Given the description of an element on the screen output the (x, y) to click on. 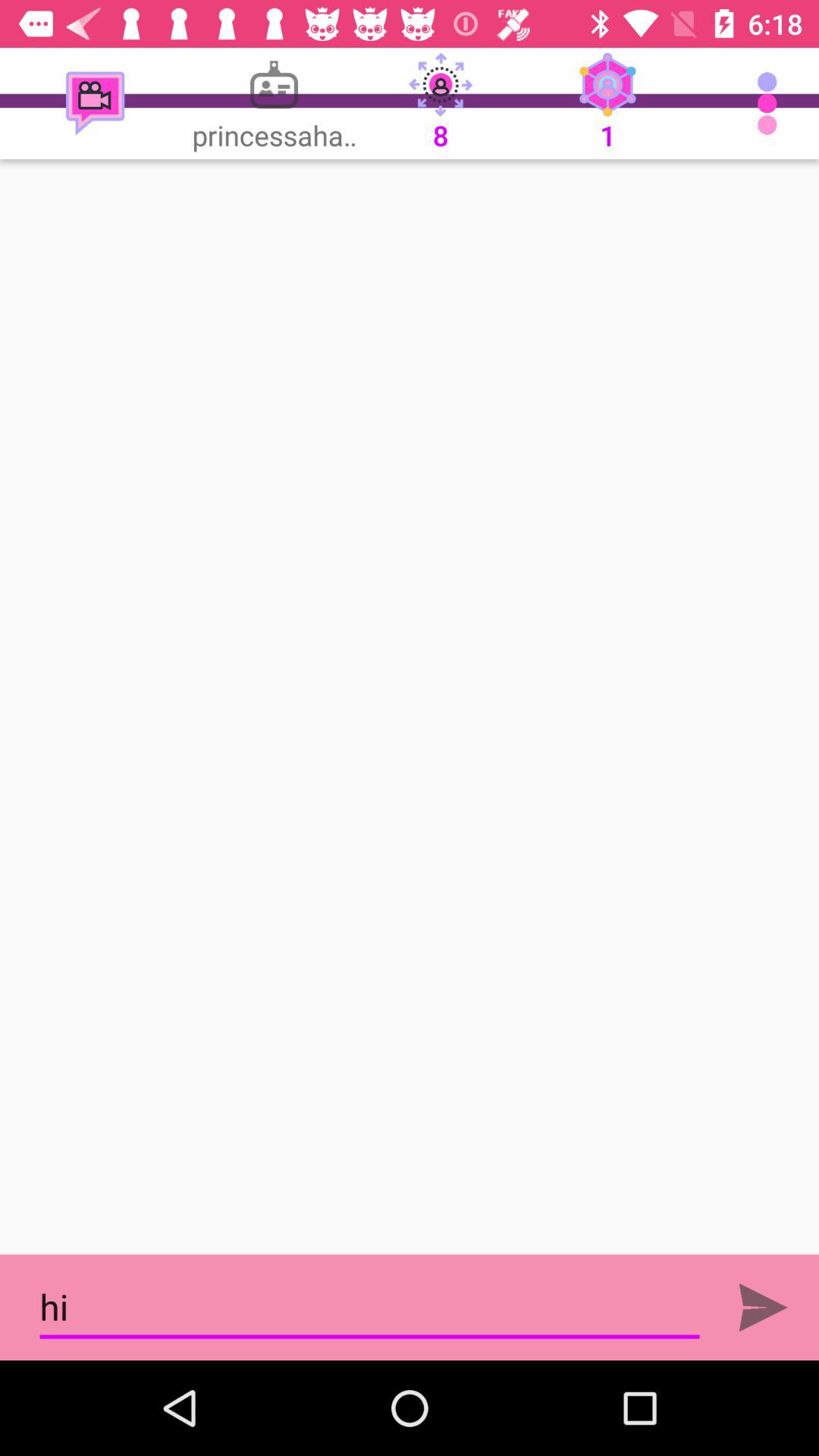
press send (763, 1307)
